Given the description of an element on the screen output the (x, y) to click on. 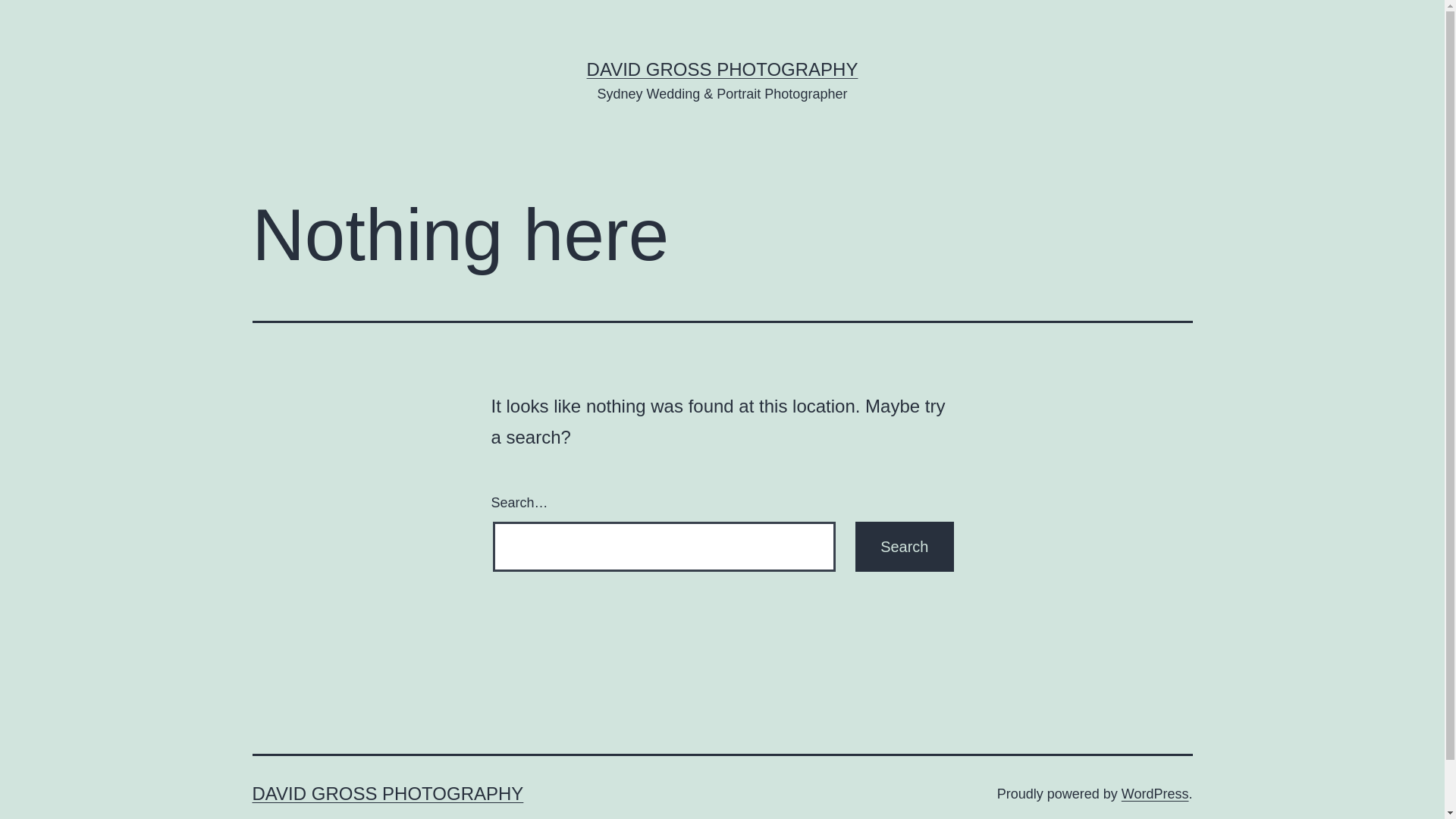
DAVID GROSS PHOTOGRAPHY Element type: text (387, 793)
WordPress Element type: text (1155, 793)
DAVID GROSS PHOTOGRAPHY Element type: text (722, 69)
Search Element type: text (904, 546)
